Given the description of an element on the screen output the (x, y) to click on. 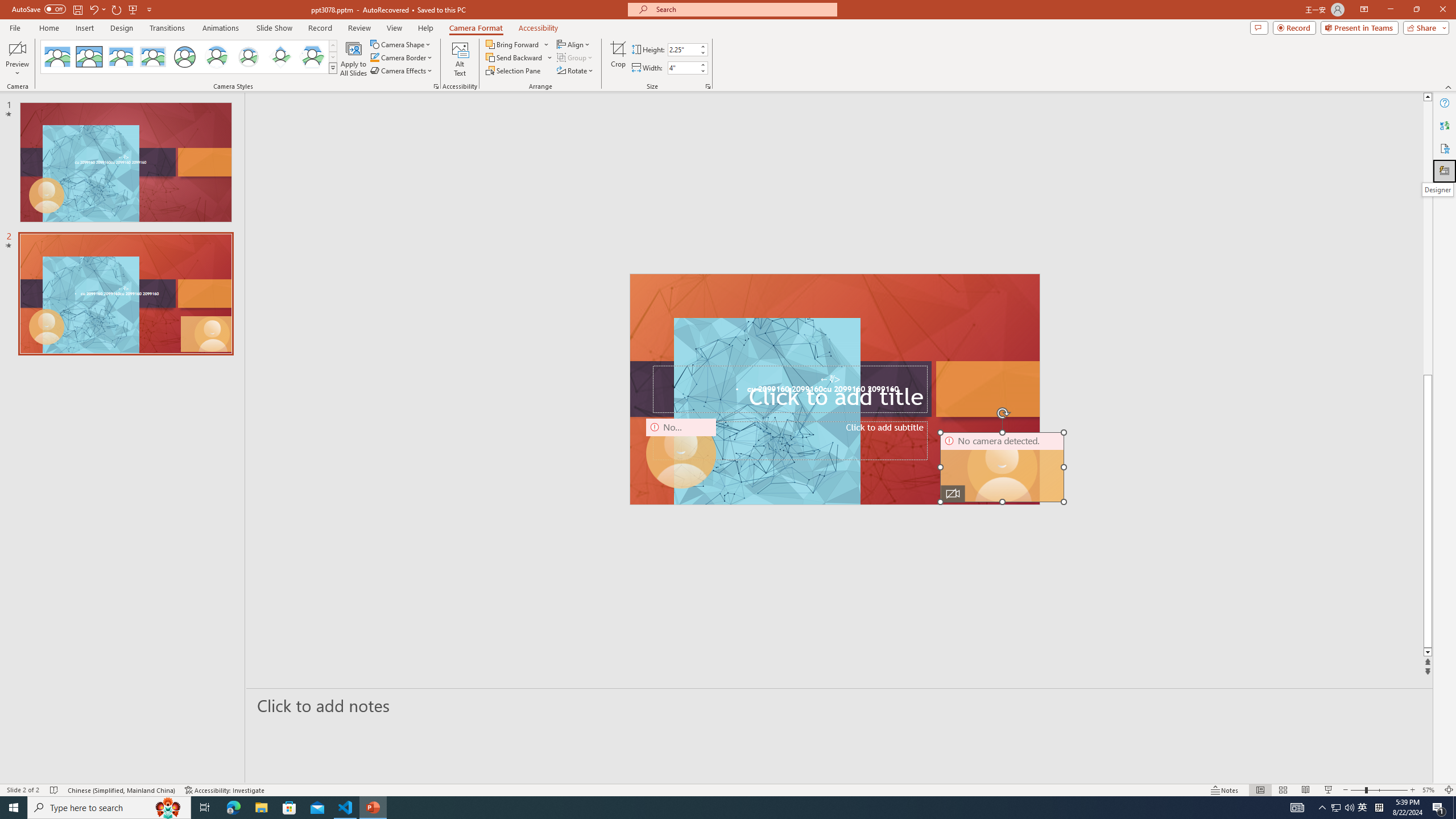
Camera Format (475, 28)
Send Backward (514, 56)
TextBox 7 (830, 379)
